Given the description of an element on the screen output the (x, y) to click on. 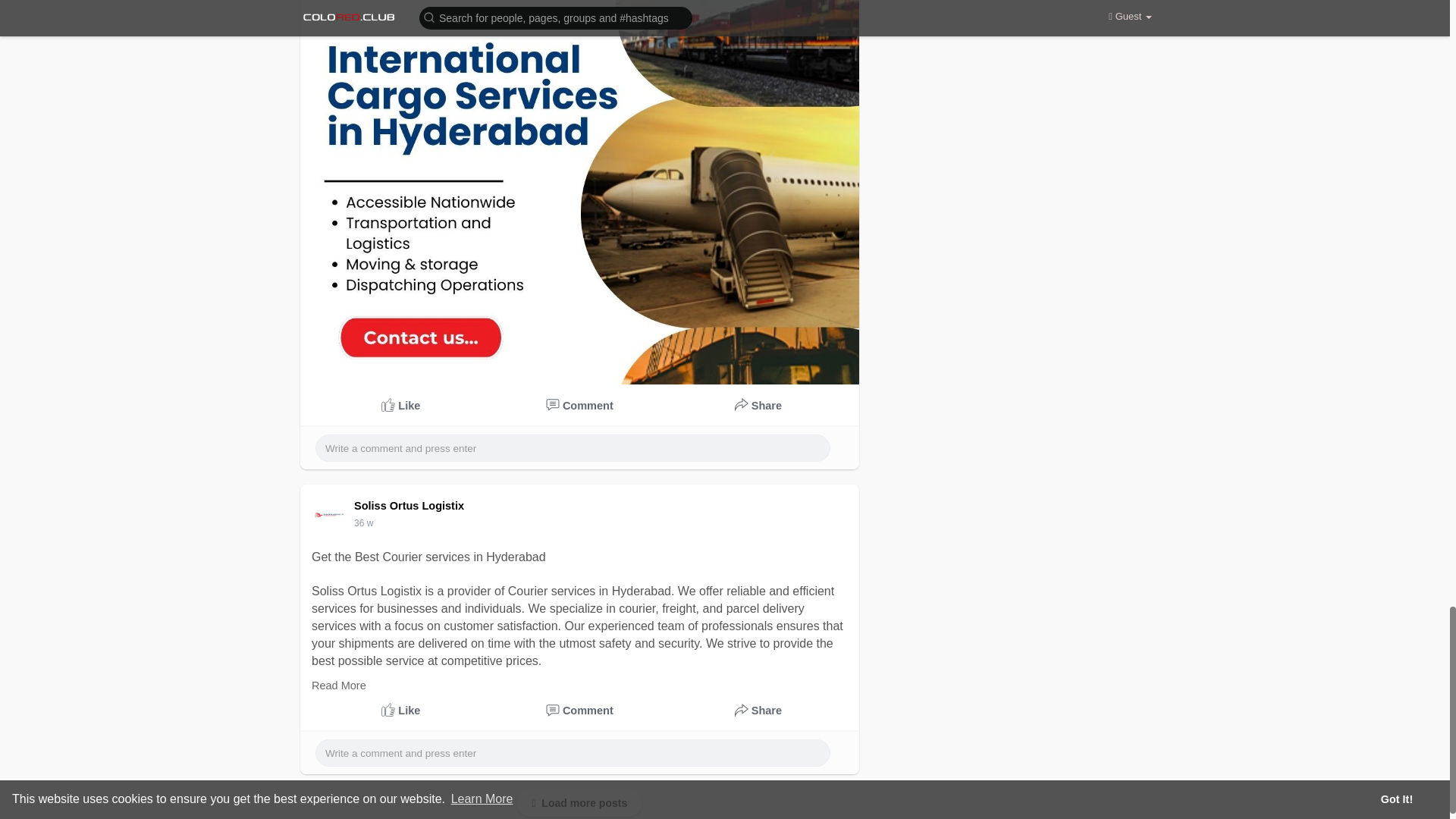
Read More (338, 685)
36 w (362, 522)
Share (757, 406)
36 w (362, 522)
Share (757, 710)
Comments (579, 406)
Soliss Ortus Logistix (410, 505)
Comments (579, 710)
